Given the description of an element on the screen output the (x, y) to click on. 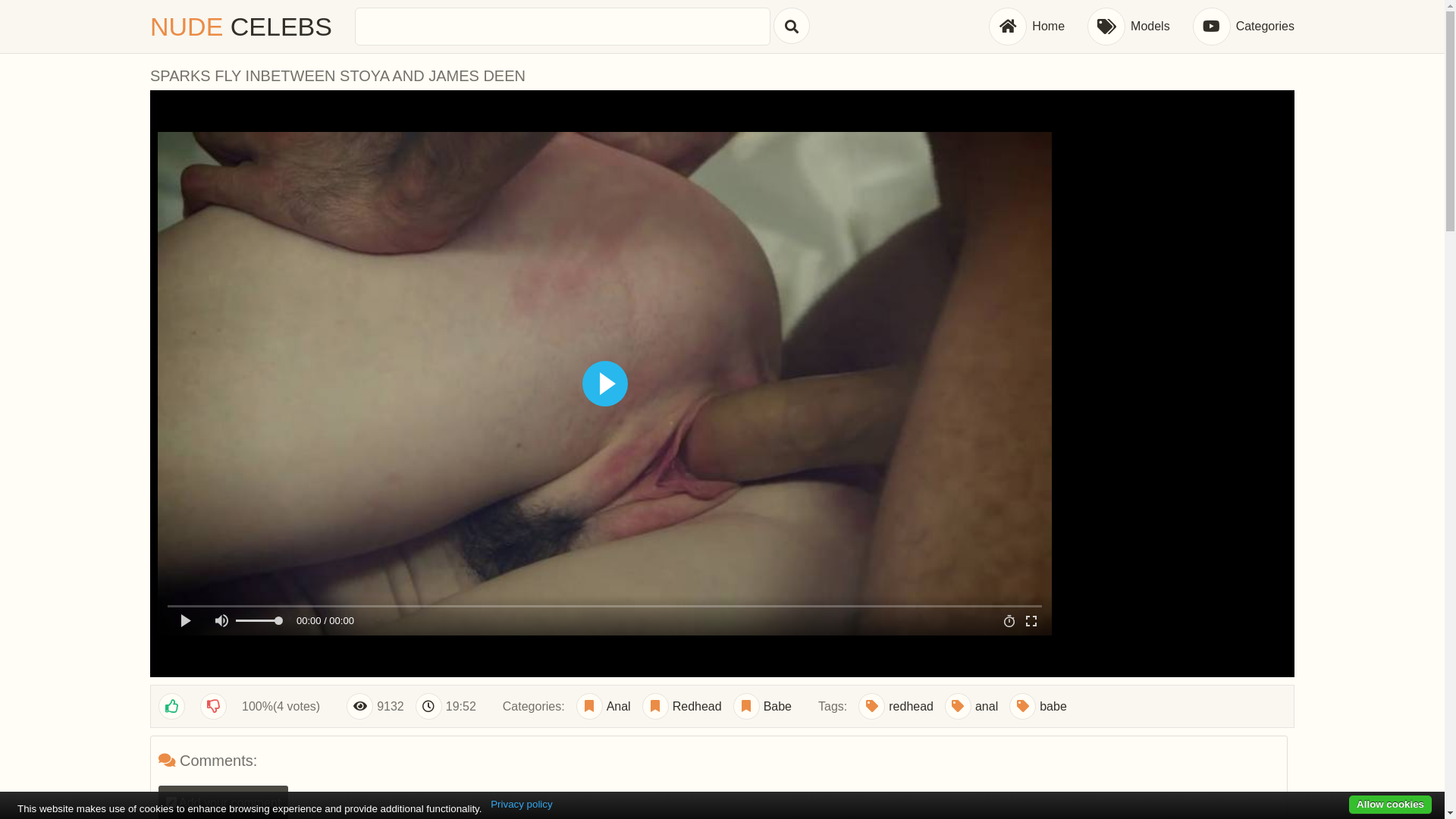
Allow cookies Element type: text (1390, 804)
babe Element type: text (1037, 706)
Models Element type: text (1128, 26)
Categories Element type: text (1243, 26)
Anal Element type: text (603, 706)
Privacy policy Element type: text (521, 804)
NUDE CELEBS Element type: text (241, 26)
Like! Element type: hover (173, 706)
redhead Element type: text (895, 706)
Home Element type: text (1026, 26)
Dislike! Element type: hover (215, 706)
anal Element type: text (970, 706)
Search Element type: hover (791, 25)
Redhead Element type: text (681, 706)
Babe Element type: text (762, 706)
